Given the description of an element on the screen output the (x, y) to click on. 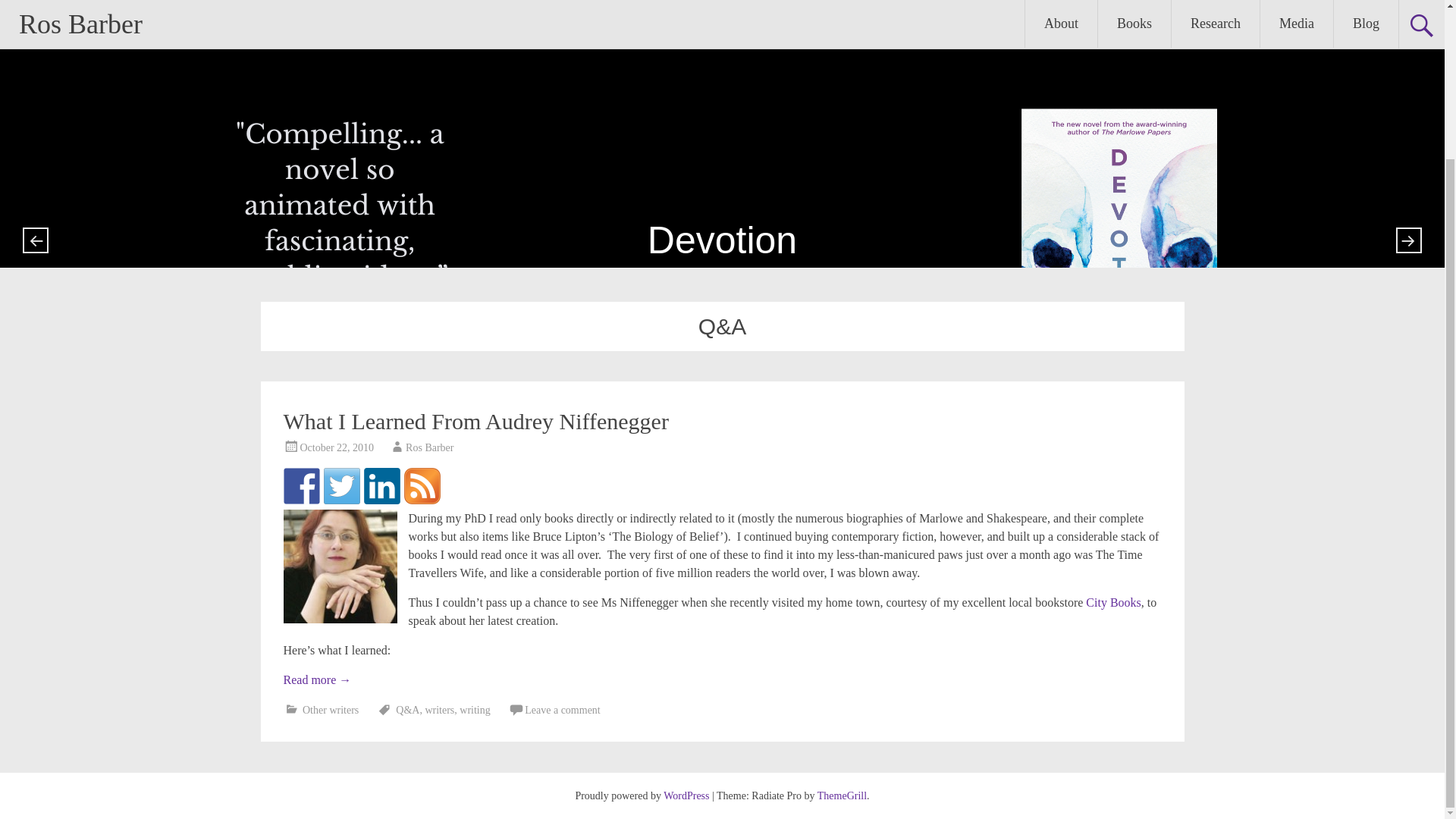
Follow me on Twitter (341, 485)
Follow me on Facebook (301, 485)
Other writers (330, 709)
writing (474, 709)
writers (439, 709)
ThemeGrill (841, 795)
Find me on Linked in (382, 485)
City Books (1113, 602)
Subscribe to my RSS feed (421, 485)
READ THE FIRST CHAPTER (722, 139)
Leave a comment (561, 709)
WordPress (686, 795)
City Books (1113, 602)
WordPress (686, 795)
Devotion (722, 139)
